Given the description of an element on the screen output the (x, y) to click on. 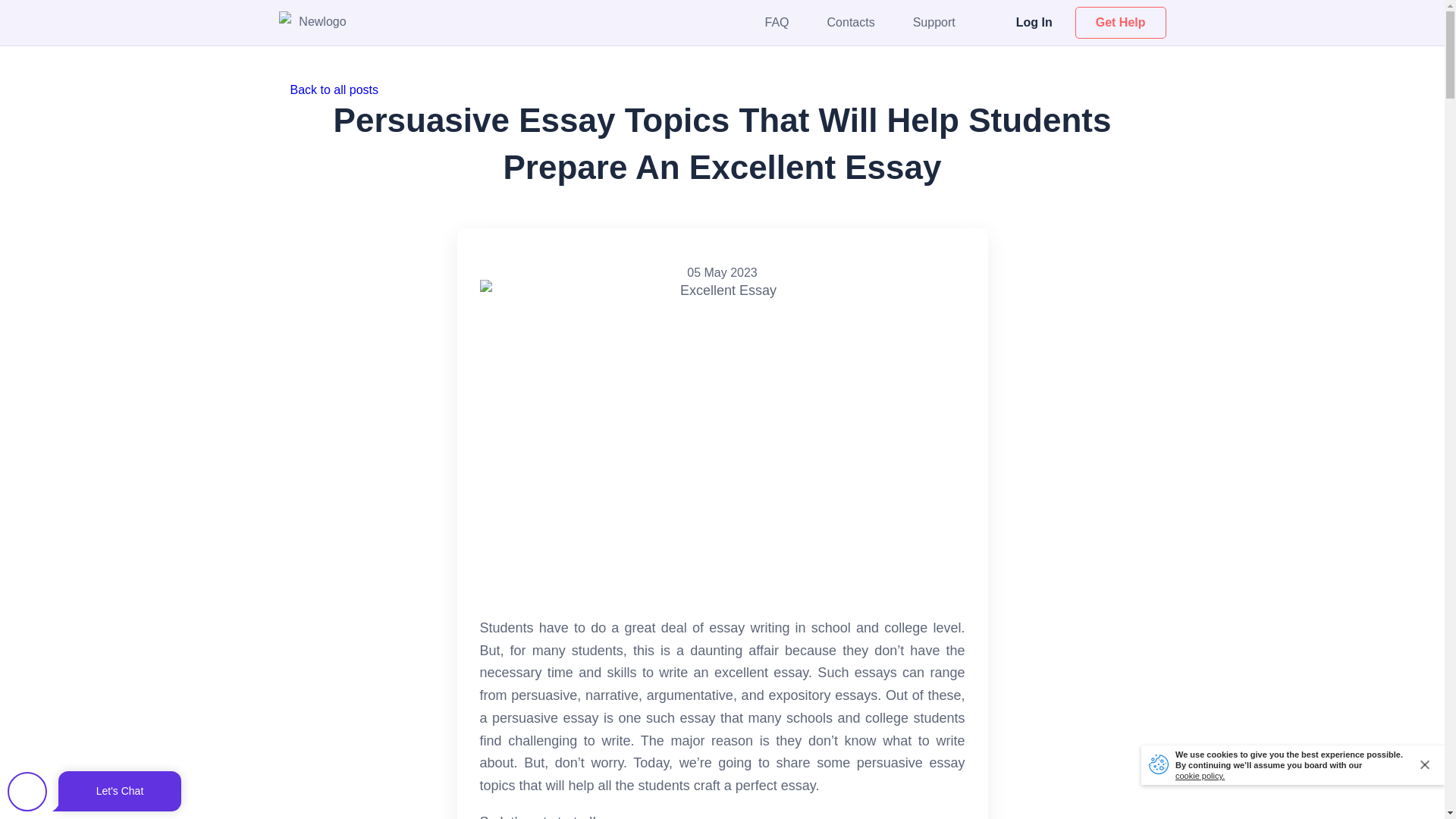
FAQ (777, 21)
Let's Chat (93, 791)
Log In (1034, 21)
Support (933, 21)
Close (1425, 764)
Back to all posts (721, 89)
Contacts (851, 21)
cookie policy. (1199, 775)
